Given the description of an element on the screen output the (x, y) to click on. 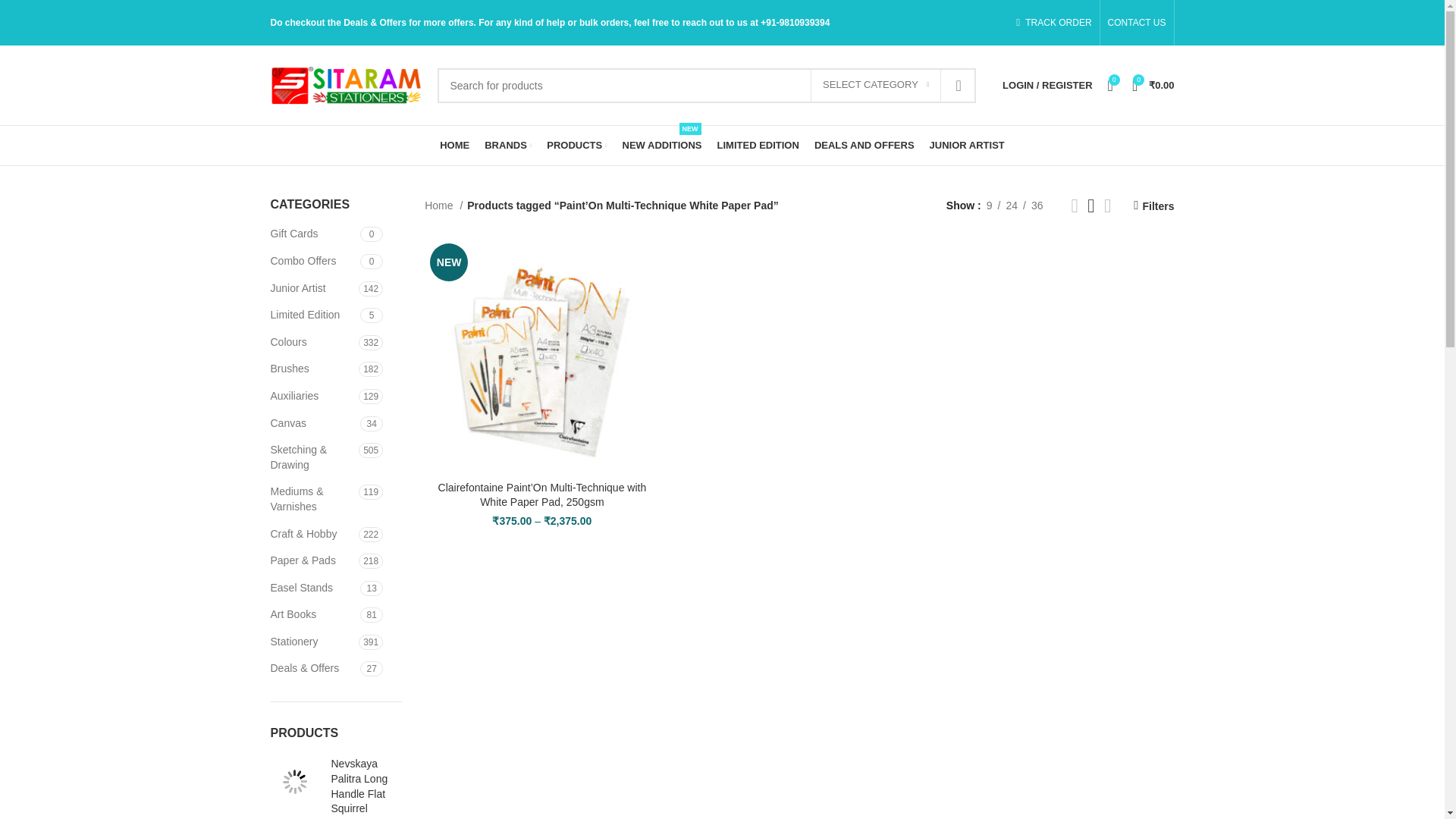
SELECT CATEGORY (875, 85)
CONTACT US (1137, 22)
TRACK ORDER (1053, 22)
My account (1046, 84)
Shopping cart (1153, 84)
Search for products (705, 85)
SELECT CATEGORY (875, 85)
